Given the description of an element on the screen output the (x, y) to click on. 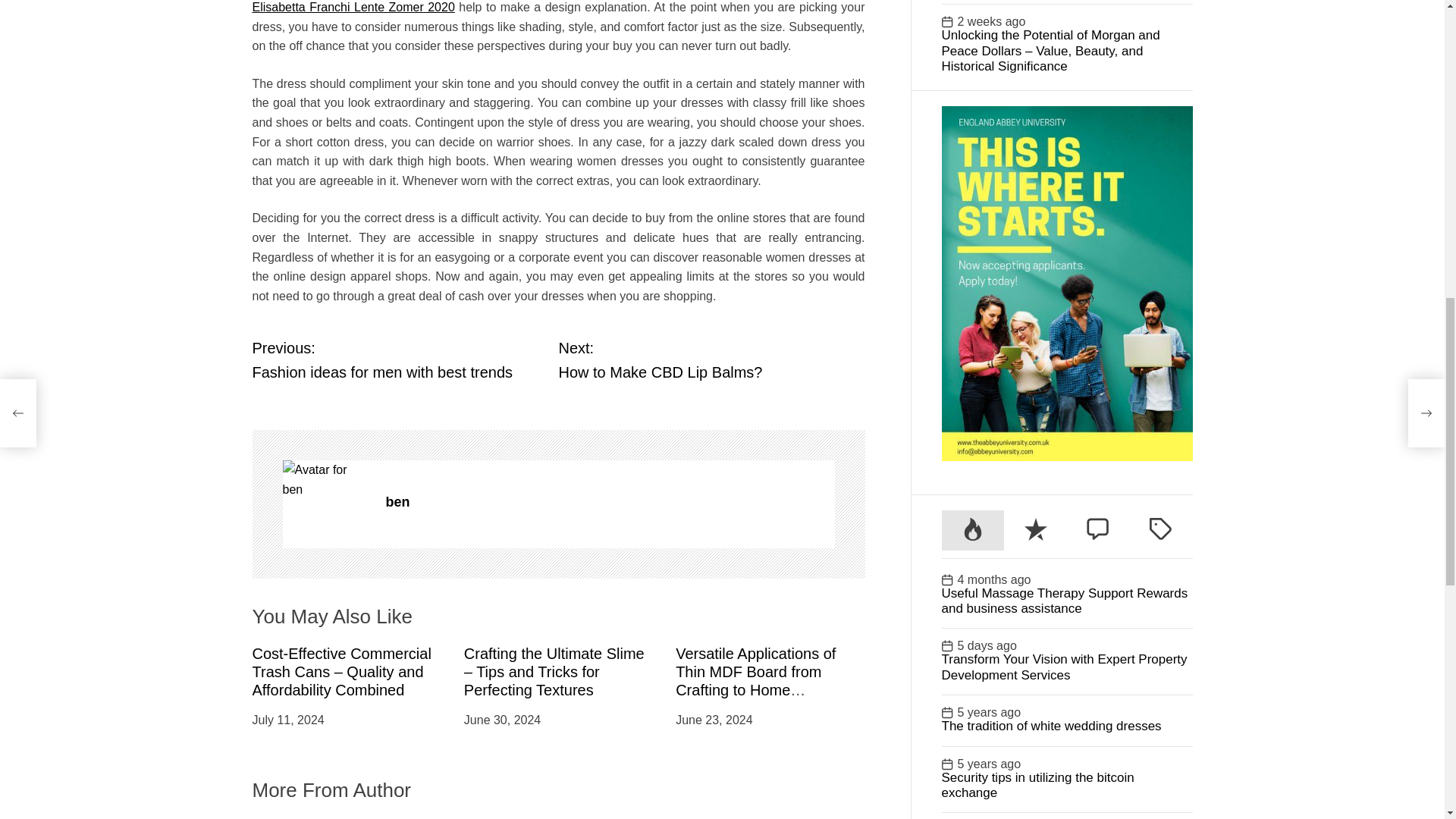
ben (609, 502)
ben (609, 502)
ben (325, 479)
Elisabetta Franchi Lente Zomer 2020 (352, 6)
